Given the description of an element on the screen output the (x, y) to click on. 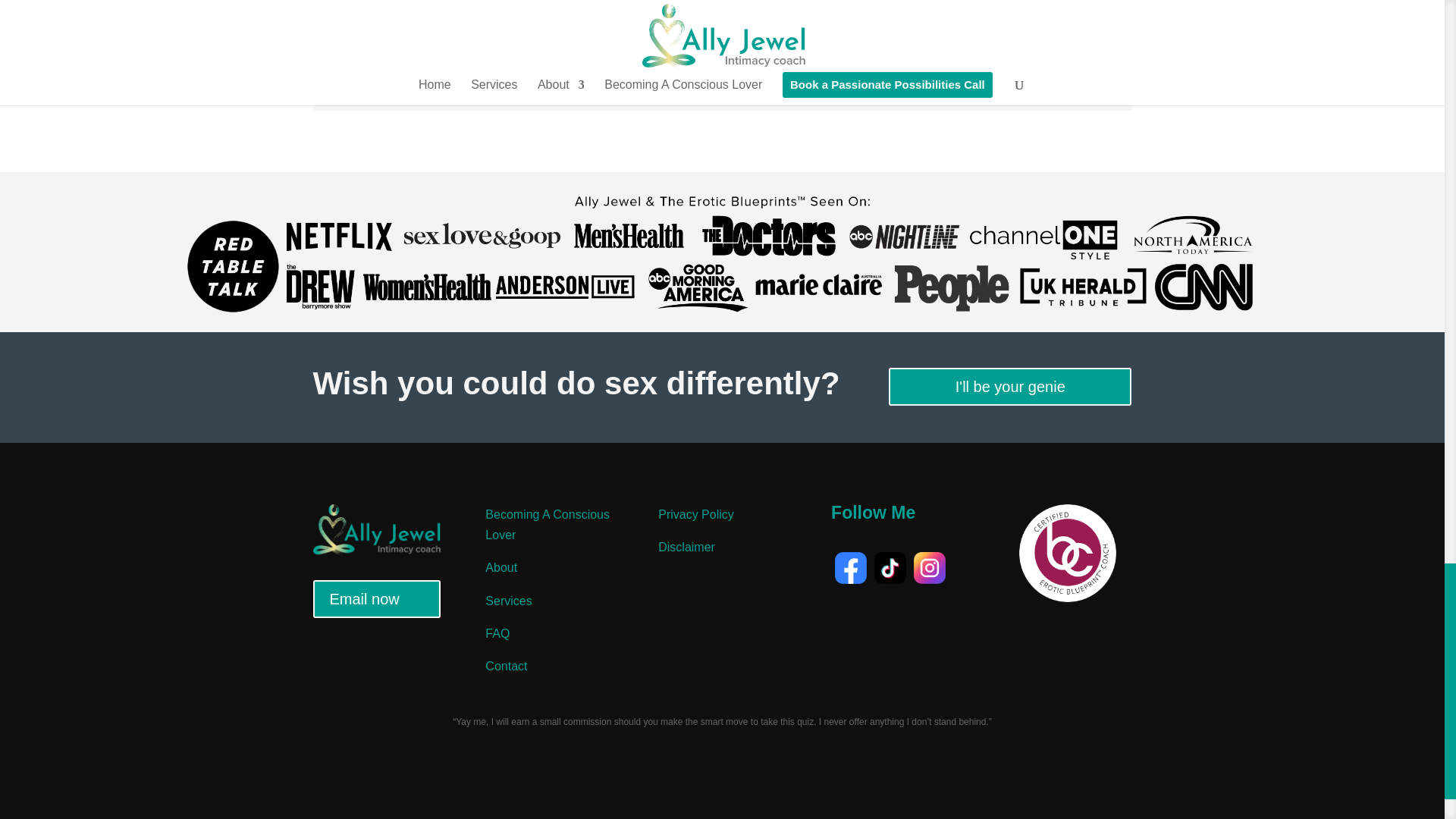
Contact (505, 666)
Becoming A Conscious Lover (547, 524)
FAQ (496, 633)
Services (507, 600)
Disclaimer (686, 546)
I'll be your genie (1009, 386)
Privacy Policy (695, 513)
Email now (376, 598)
Ally Jewel Logo FINAL RGB Small Transparent (376, 530)
About (500, 567)
